Given the description of an element on the screen output the (x, y) to click on. 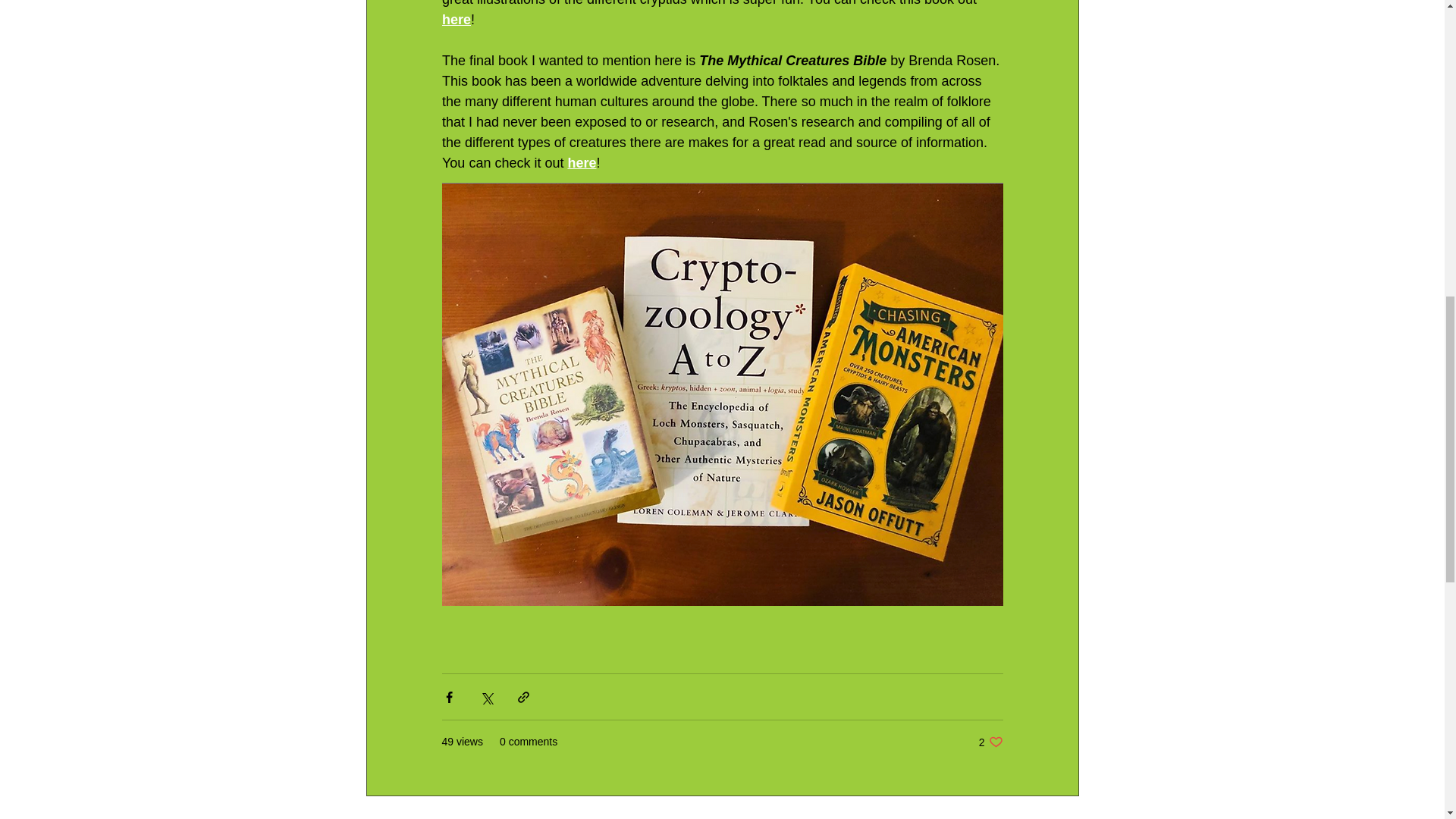
See All (990, 741)
here (1061, 816)
here (455, 19)
